Given the description of an element on the screen output the (x, y) to click on. 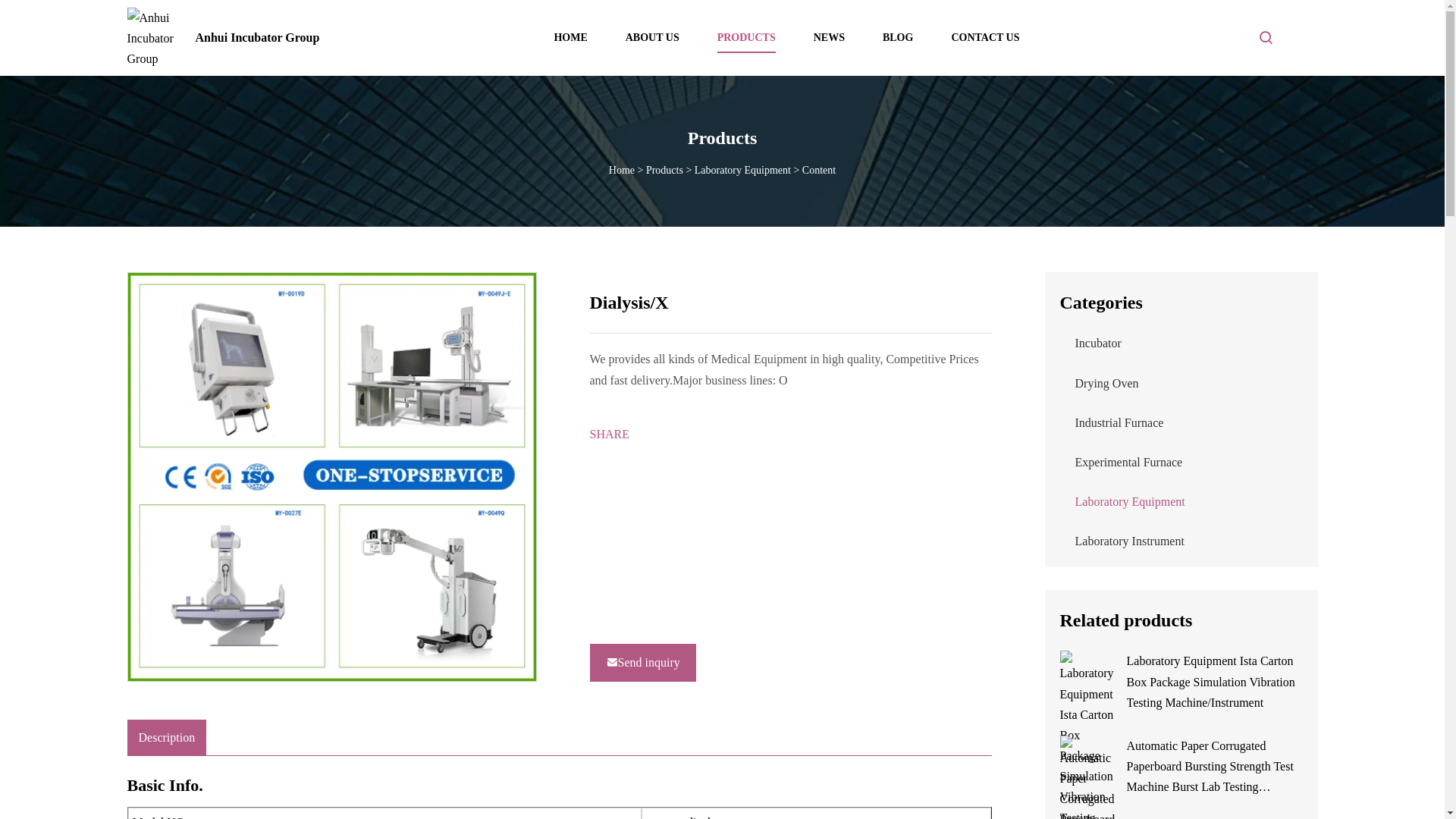
Send inquiry (642, 661)
Incubator (1098, 342)
Language (1305, 37)
Drying Oven (1106, 382)
Anhui Incubator Group (224, 38)
Laboratory Equipment (1130, 501)
Industrial Furnace (1119, 422)
Home (621, 170)
Laboratory Instrument (1130, 540)
